Given the description of an element on the screen output the (x, y) to click on. 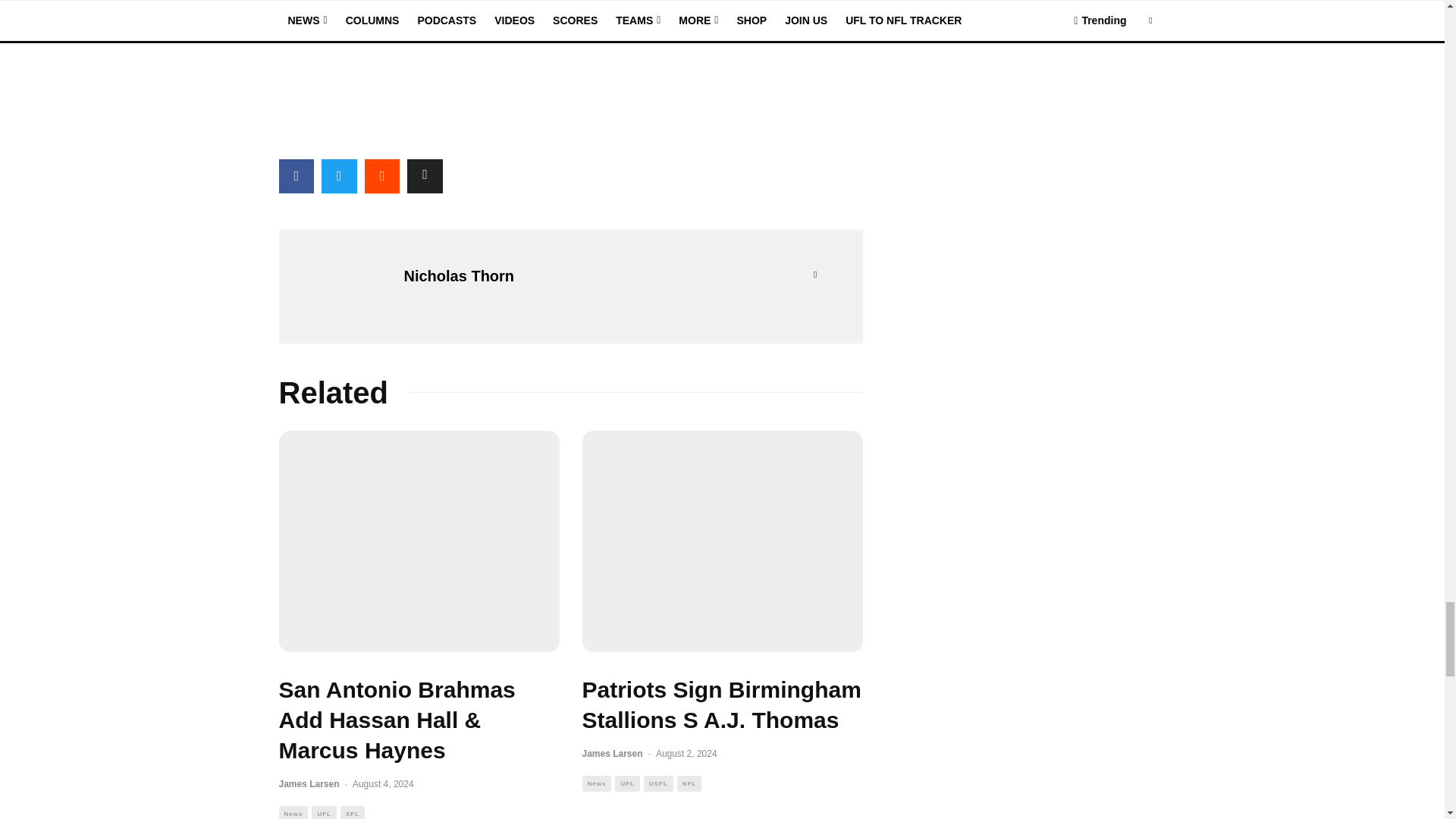
Posts by James Larsen (309, 783)
Posts by James Larsen (612, 753)
